Given the description of an element on the screen output the (x, y) to click on. 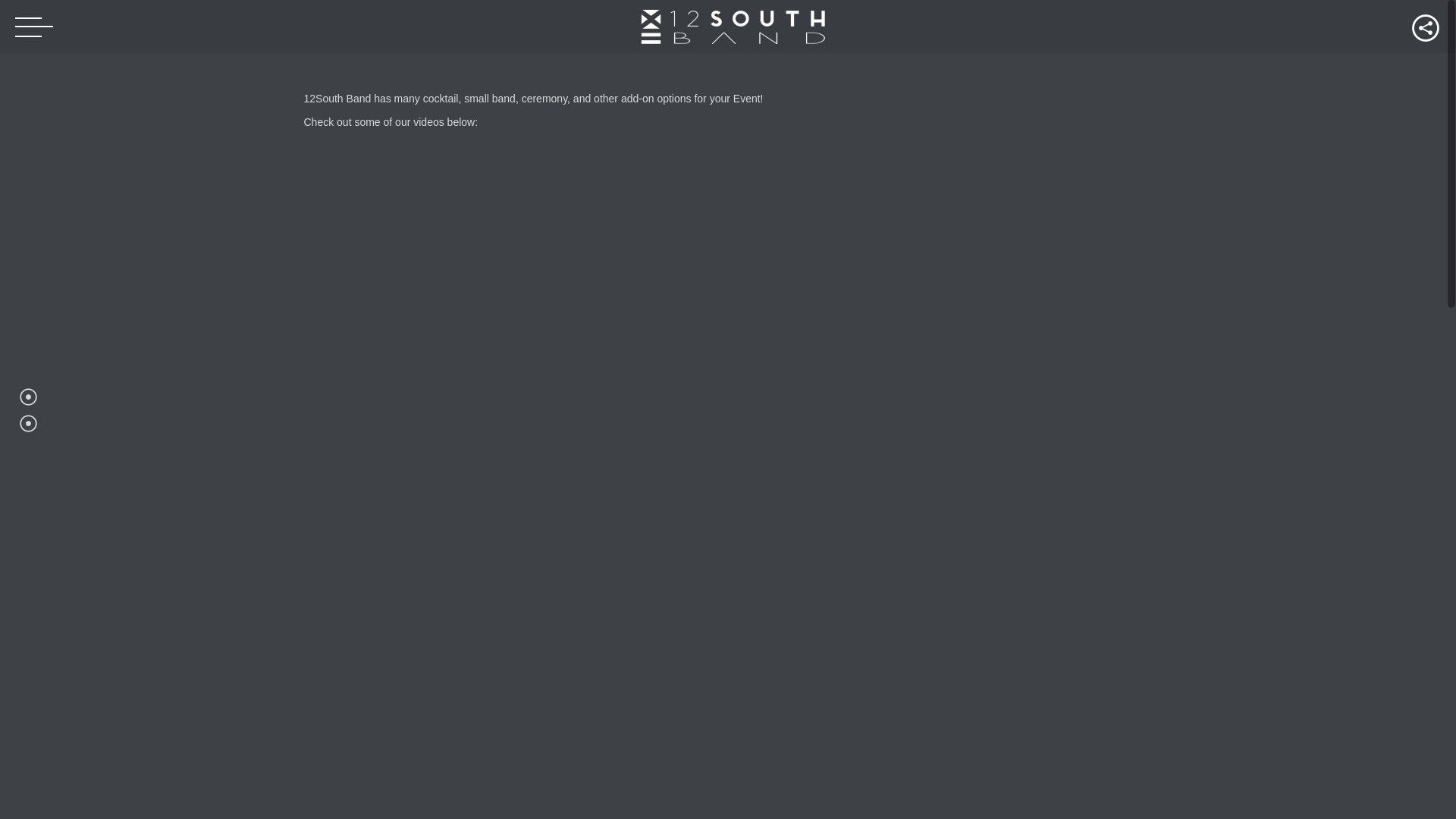
YouTube video player Element type: hover (727, 368)
